Given the description of an element on the screen output the (x, y) to click on. 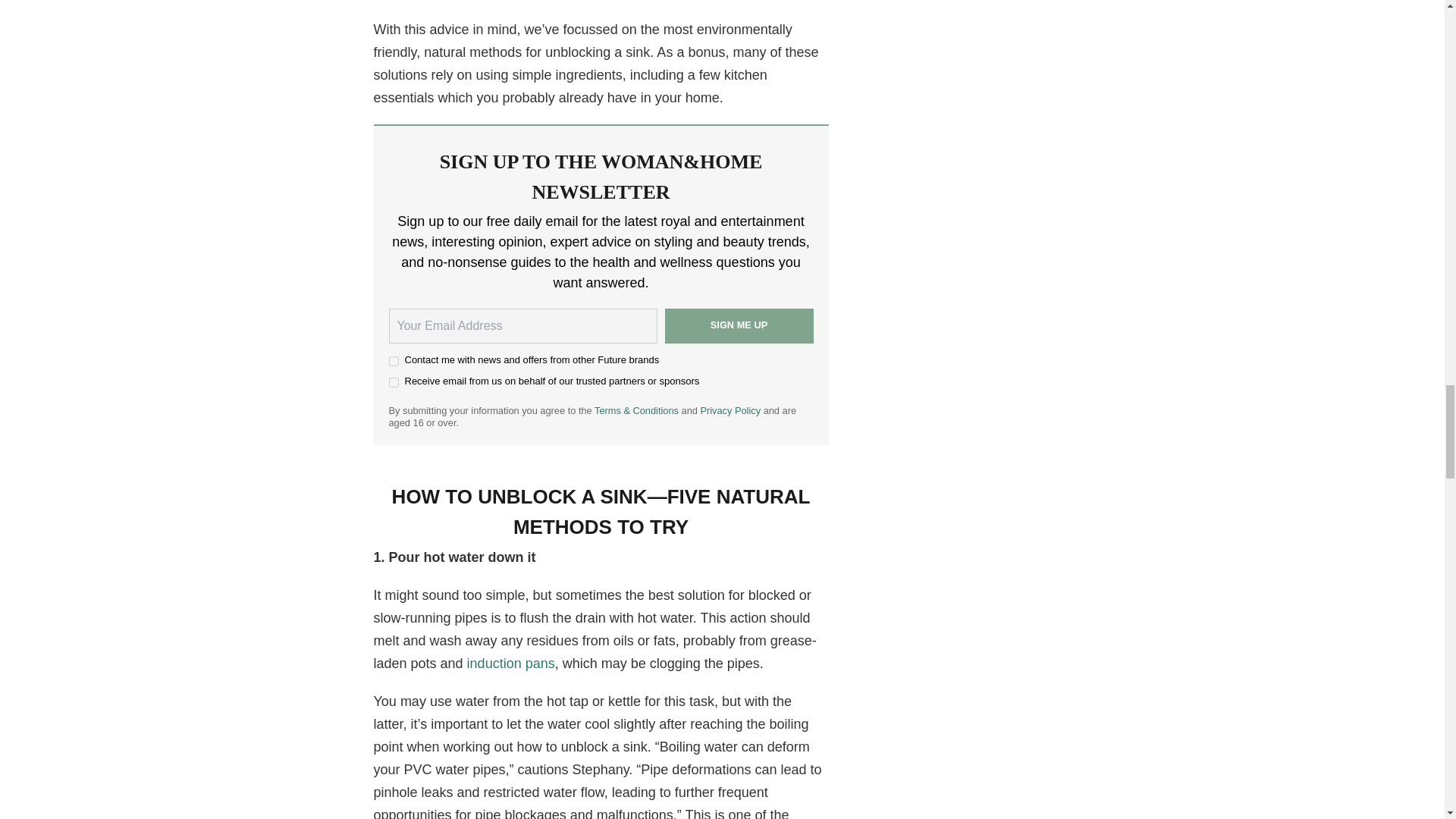
Sign me up (737, 325)
on (392, 382)
on (392, 361)
